Given the description of an element on the screen output the (x, y) to click on. 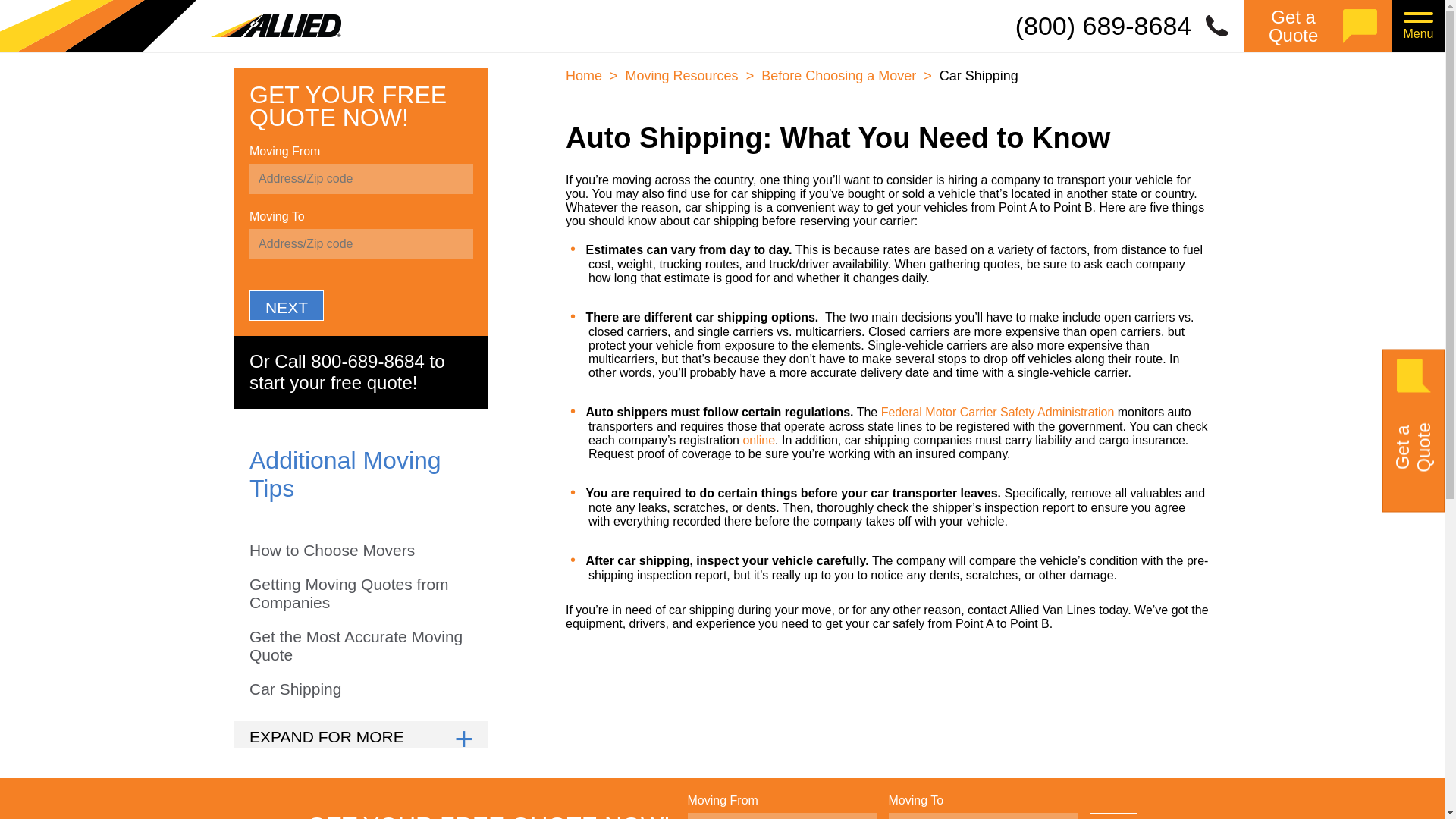
Federal Motor Carrier Safety Administration (997, 411)
How to Choose Movers (331, 550)
online (758, 440)
Car Shipping (294, 688)
Get a Quote (1317, 26)
Call Allied (1129, 26)
NEXT (1113, 816)
Get the Most Accurate Moving Quote (360, 645)
Before Choosing a Mover (840, 75)
Allied Movers (170, 26)
Home (585, 75)
Moving Resources (684, 75)
Getting Moving Quotes from Companies (360, 593)
NEXT (285, 305)
Allied Van Lines (170, 26)
